Given the description of an element on the screen output the (x, y) to click on. 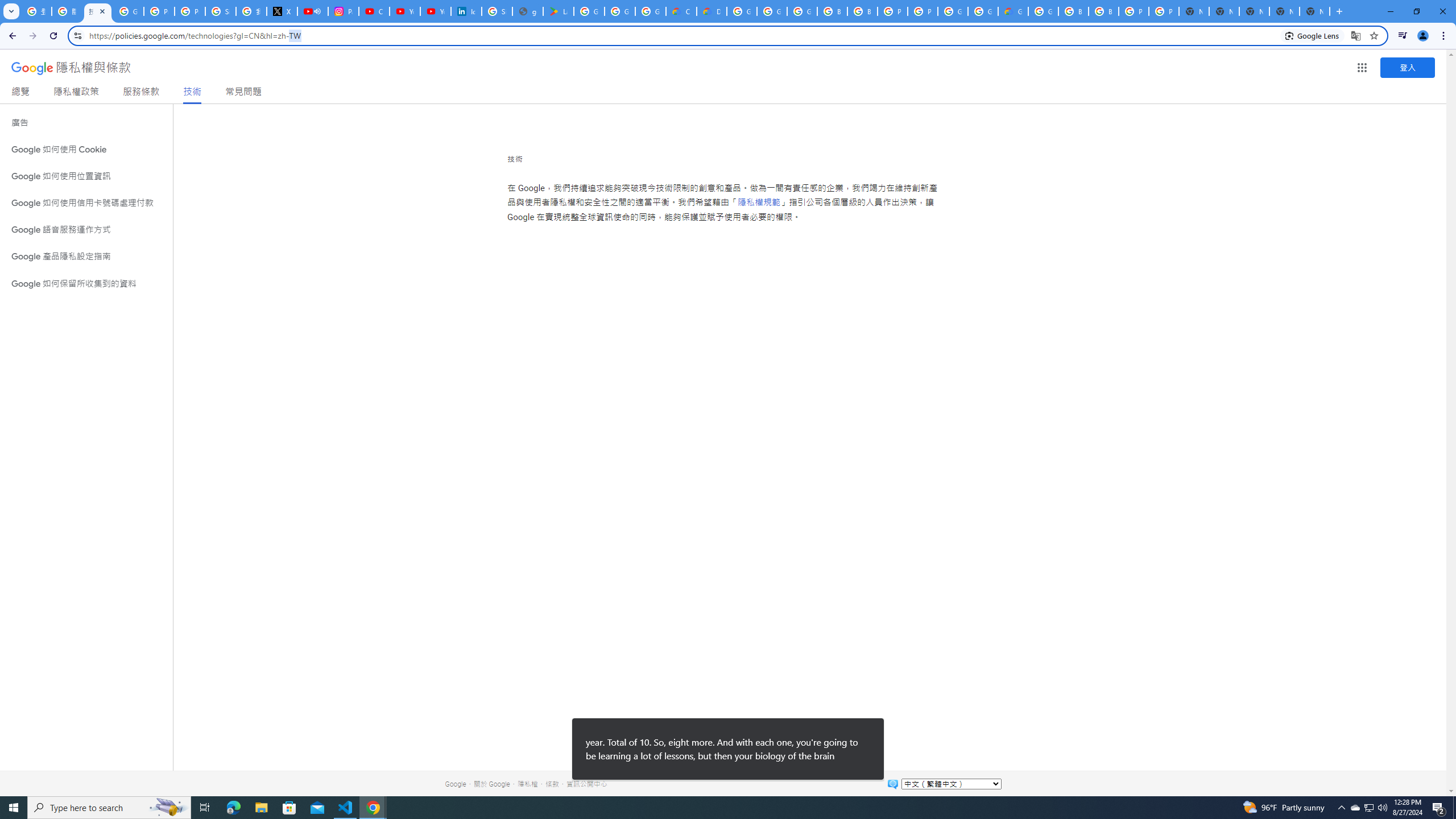
Sign in - Google Accounts (220, 11)
Browse Chrome as a guest - Computer - Google Chrome Help (1072, 11)
YouTube Culture & Trends - YouTube Top 10, 2021 (434, 11)
Last Shelter: Survival - Apps on Google Play (558, 11)
Google Workspace - Specific Terms (619, 11)
